Given the description of an element on the screen output the (x, y) to click on. 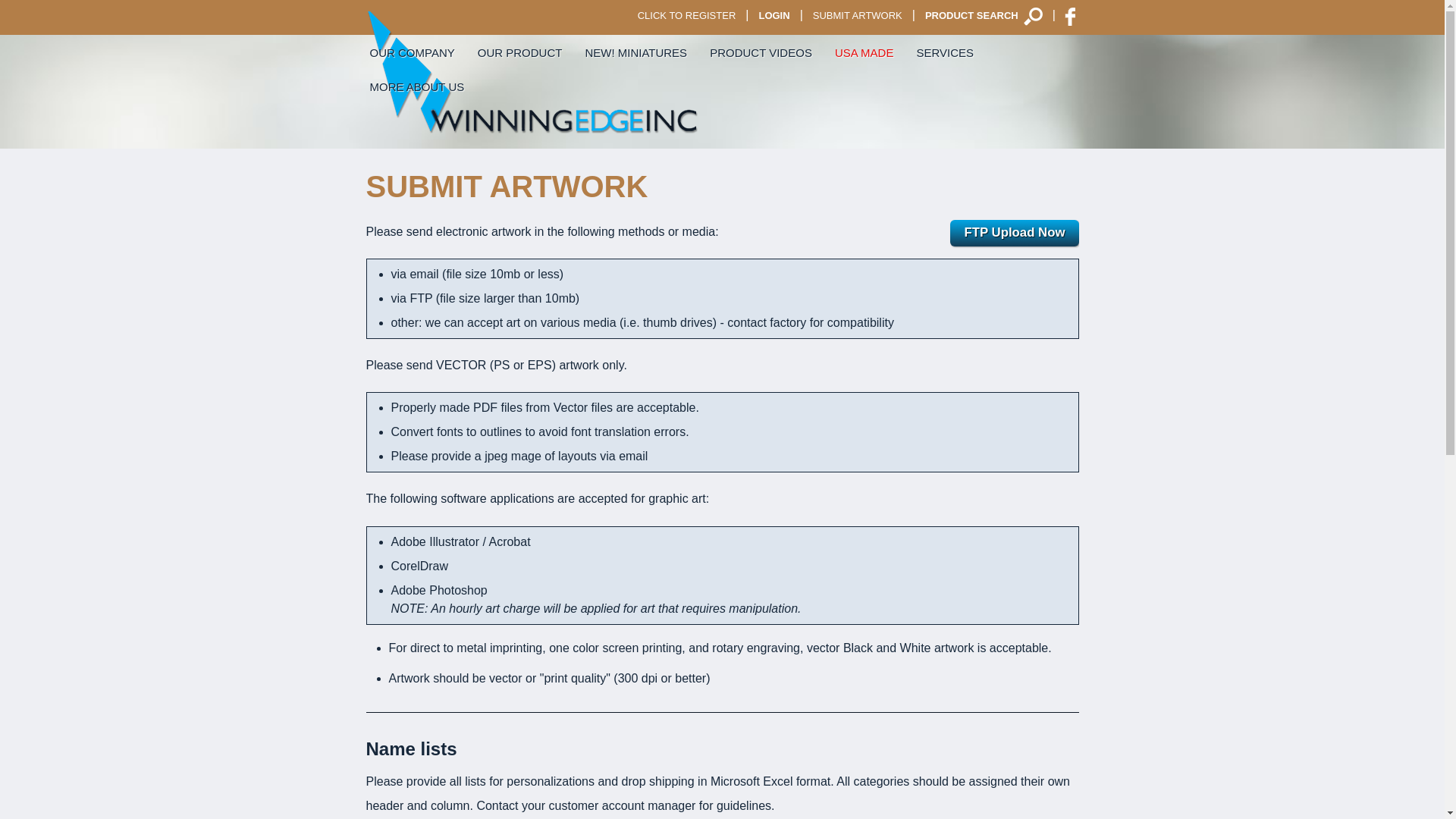
OUR PRODUCT (519, 51)
SUBMIT ARTWORK (857, 17)
NEW! MINIATURES (635, 51)
PRODUCT SEARCH (983, 17)
LOGIN (773, 17)
CLICK TO REGISTER (686, 17)
SERVICES (944, 51)
PRODUCT VIDEOS (761, 51)
OUR COMPANY (411, 51)
USA MADE (864, 51)
